Given the description of an element on the screen output the (x, y) to click on. 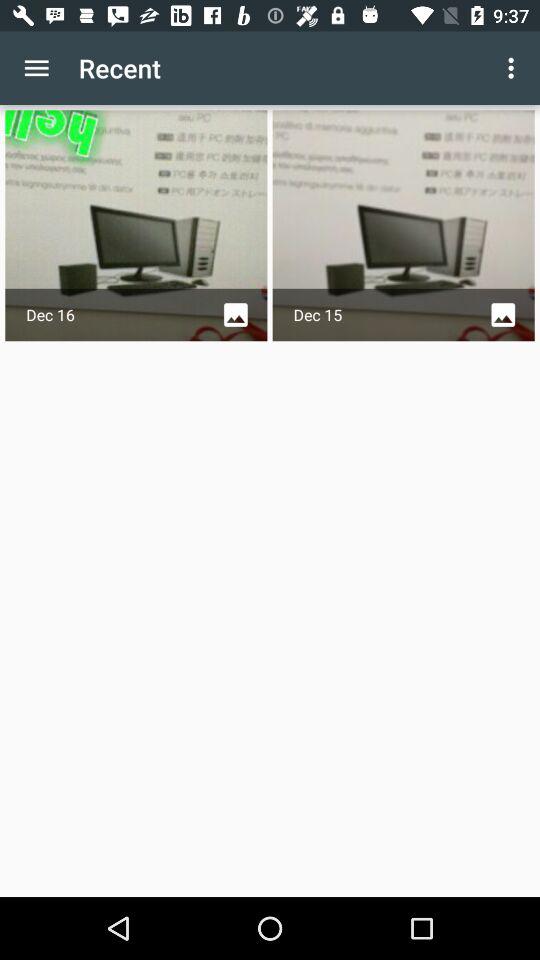
choose icon next to recent (513, 67)
